Given the description of an element on the screen output the (x, y) to click on. 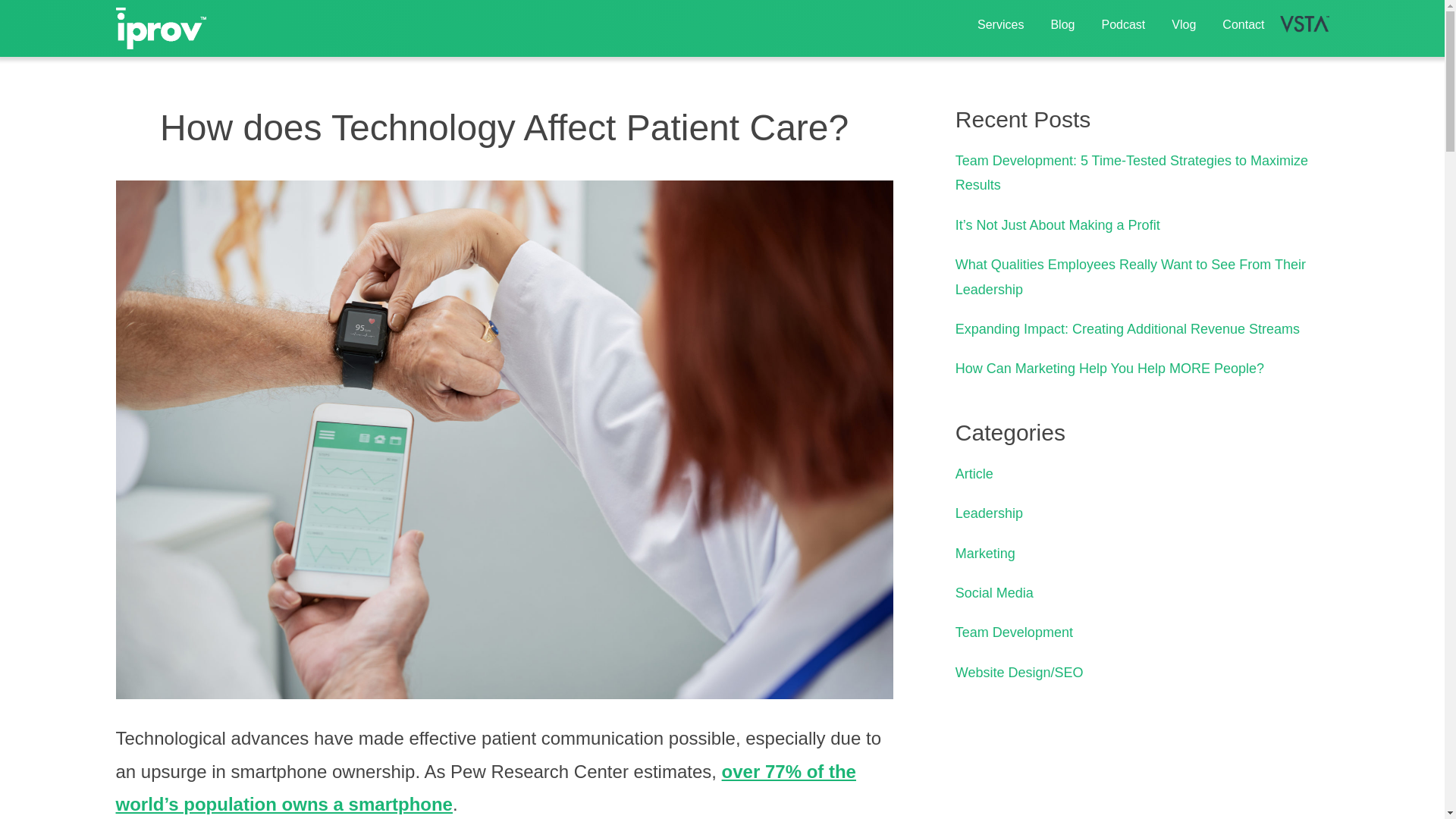
How Can Marketing Help You Help MORE People? (1109, 368)
Vlog (1183, 24)
Podcast (1122, 24)
Marketing (984, 553)
Services (1000, 24)
IPROV (160, 28)
Leadership (989, 513)
